Given the description of an element on the screen output the (x, y) to click on. 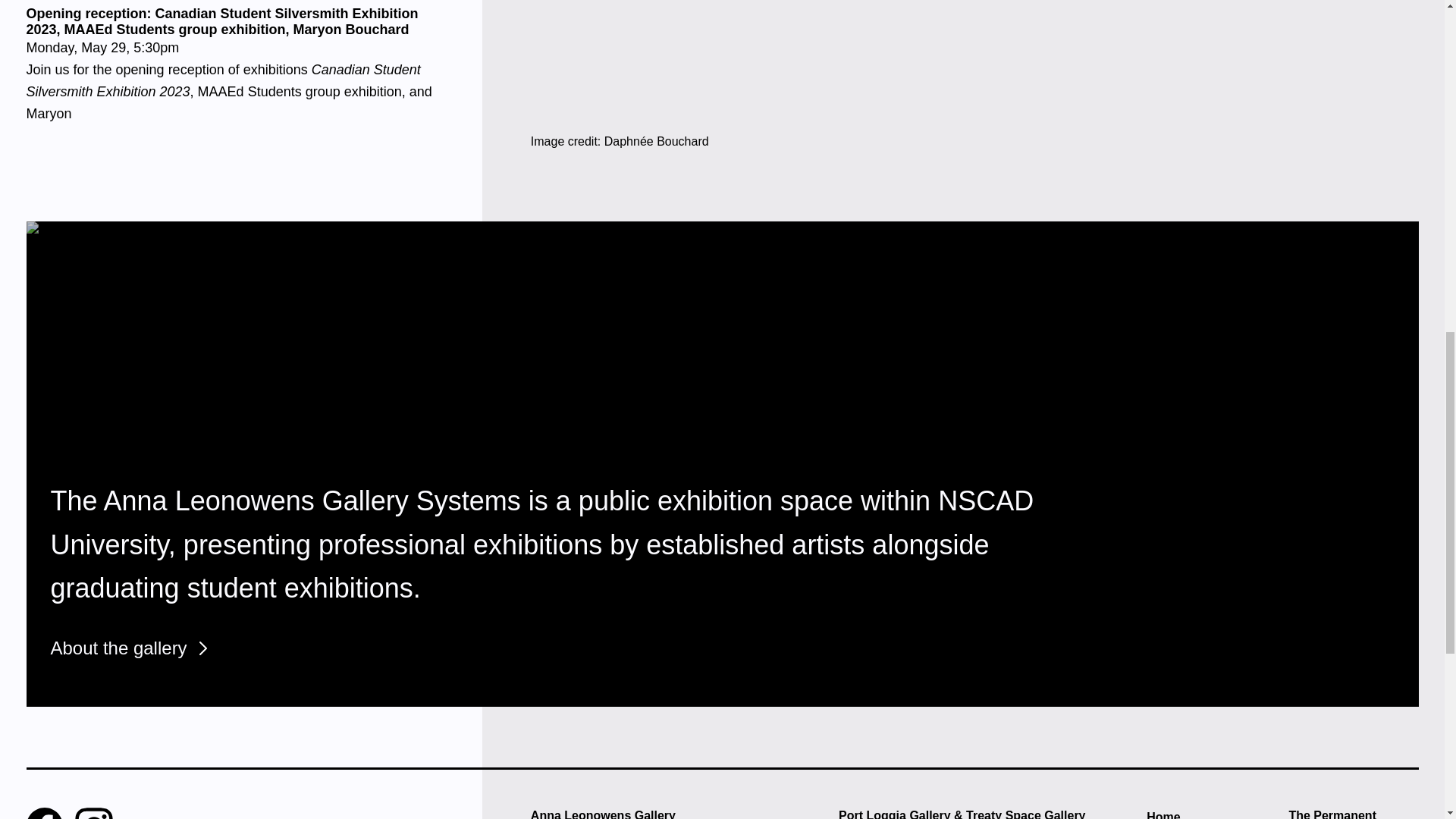
Home (1211, 813)
Follow us on Instagram (93, 813)
Follow us on Facebook (44, 813)
Follow us on Facebook (44, 813)
About the gallery (1353, 812)
Follow us on Instagram (117, 648)
